Given the description of an element on the screen output the (x, y) to click on. 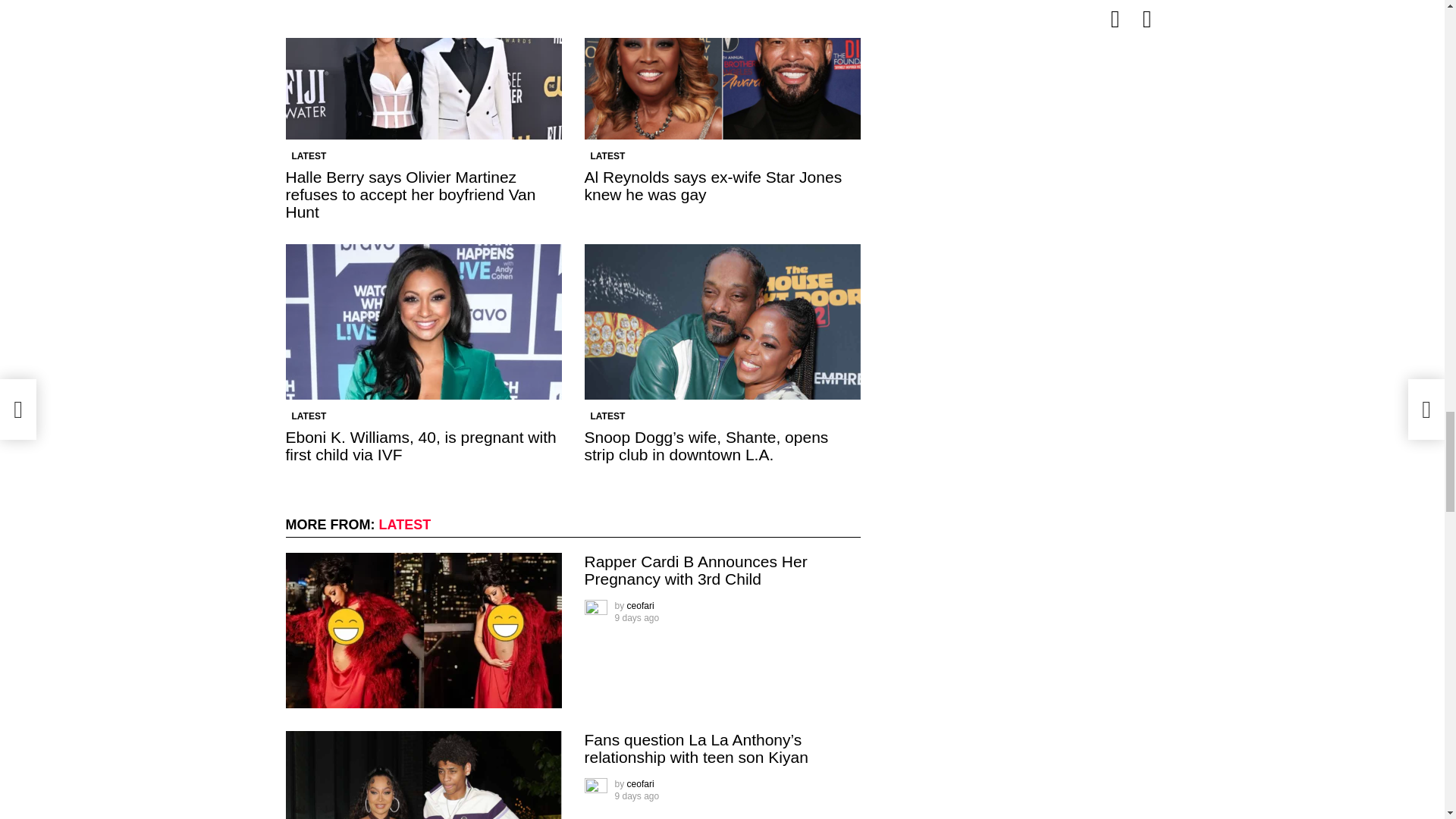
LATEST (308, 155)
LATEST (606, 155)
